Given the description of an element on the screen output the (x, y) to click on. 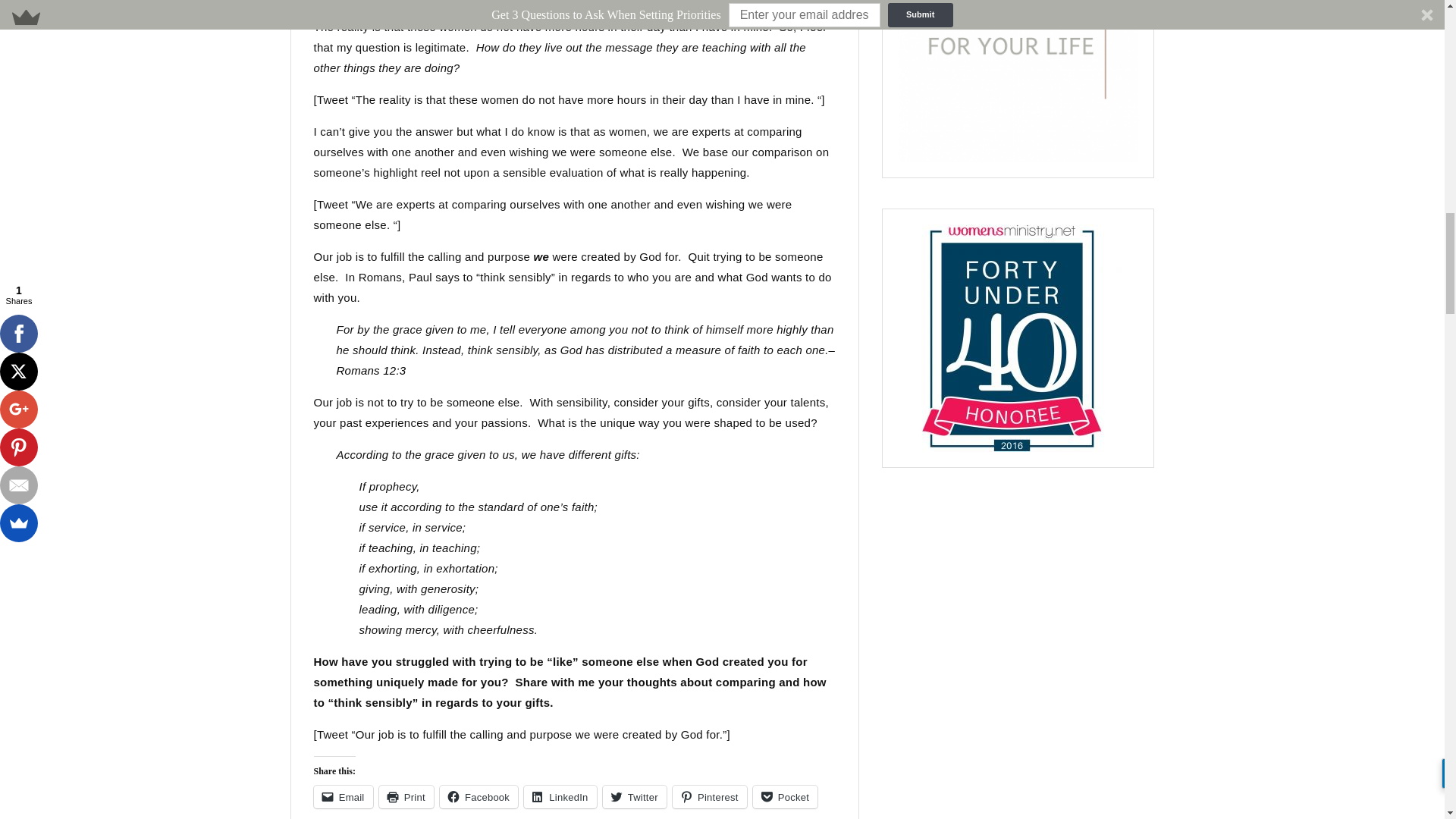
Click to share on Pocket (785, 796)
Click to share on LinkedIn (559, 796)
Twitter (633, 796)
Pocket (785, 796)
Print (405, 796)
Click to share on Twitter (633, 796)
Click to email a link to a friend (343, 796)
Facebook (478, 796)
Click to print (405, 796)
Click to share on Facebook (478, 796)
LinkedIn (559, 796)
Click to share on Pinterest (709, 796)
Romans 12:3 (371, 369)
Pinterest (709, 796)
Email (343, 796)
